Given the description of an element on the screen output the (x, y) to click on. 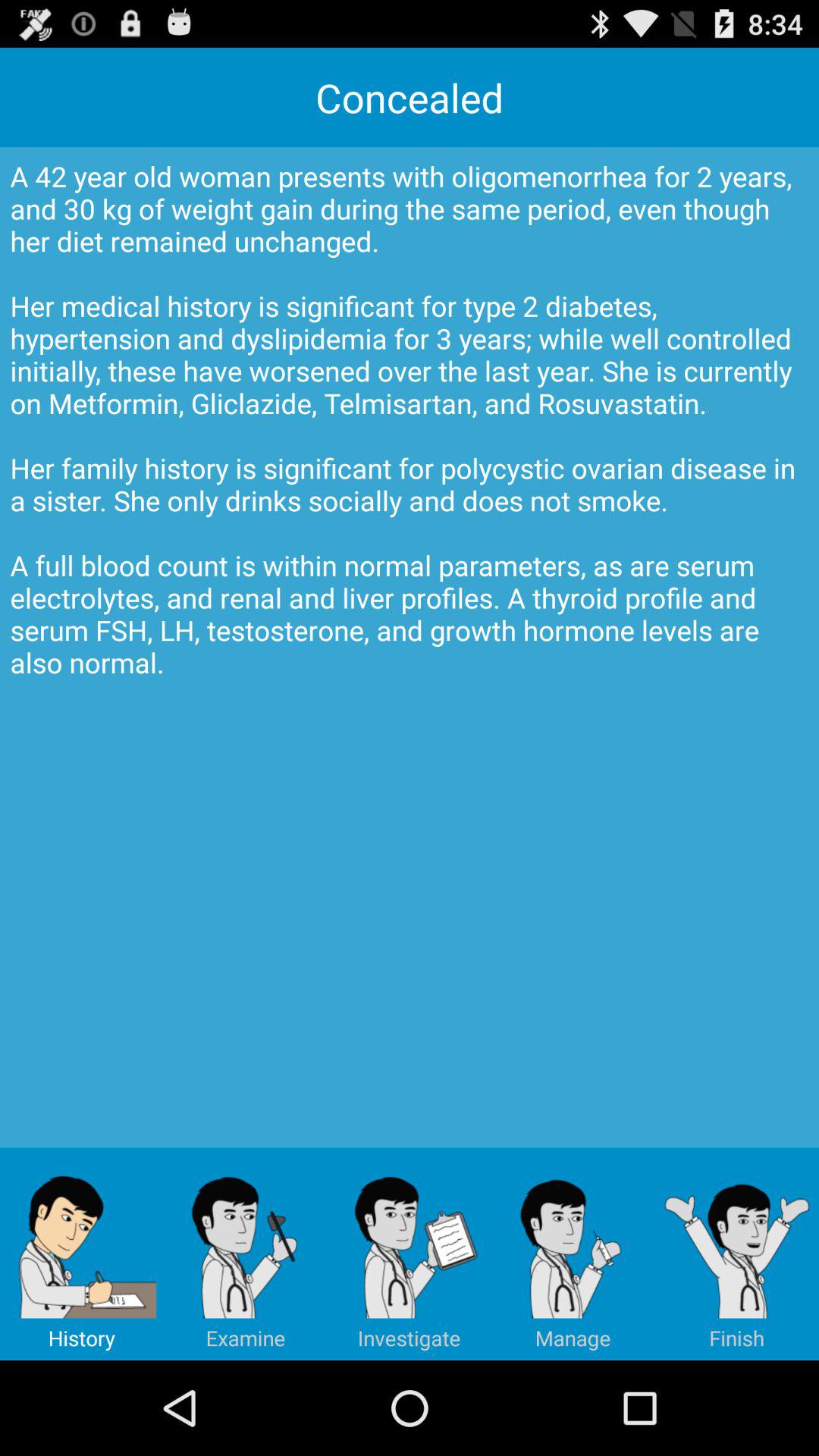
tap icon below the concealed app (409, 647)
